Given the description of an element on the screen output the (x, y) to click on. 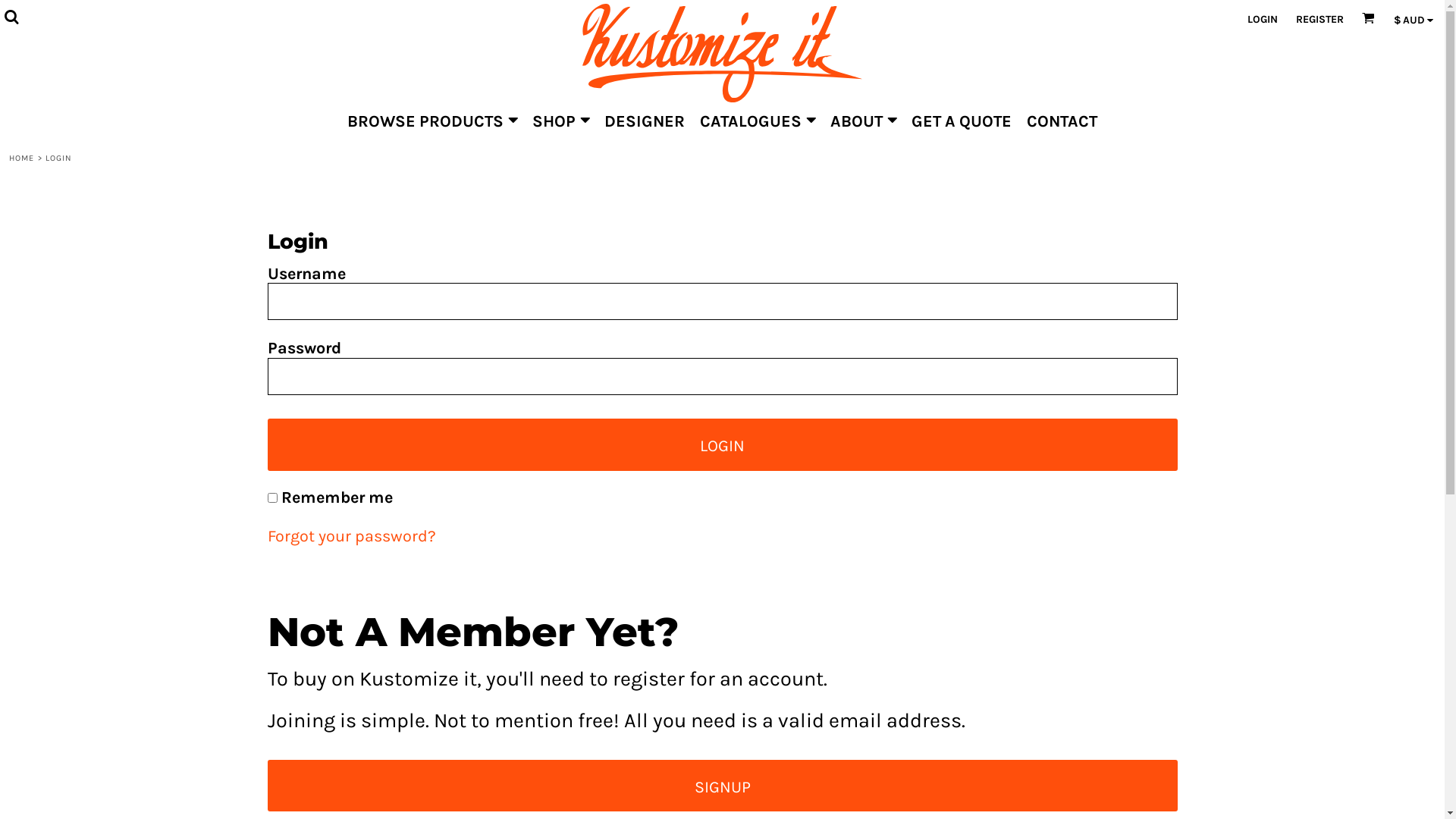
SHOP Element type: text (560, 118)
LOGIN Element type: text (1262, 18)
LOGIN Element type: text (721, 444)
DESIGNER Element type: text (644, 118)
as Element type: text (14, 12)
SIGNUP Element type: text (721, 785)
REGISTER Element type: text (1319, 18)
GET A QUOTE Element type: text (961, 118)
ABOUT Element type: text (863, 118)
Forgot your password? Element type: text (350, 535)
CONTACT Element type: text (1061, 118)
BROWSE PRODUCTS Element type: text (432, 118)
HOME Element type: text (21, 158)
CATALOGUES Element type: text (757, 118)
